Given the description of an element on the screen output the (x, y) to click on. 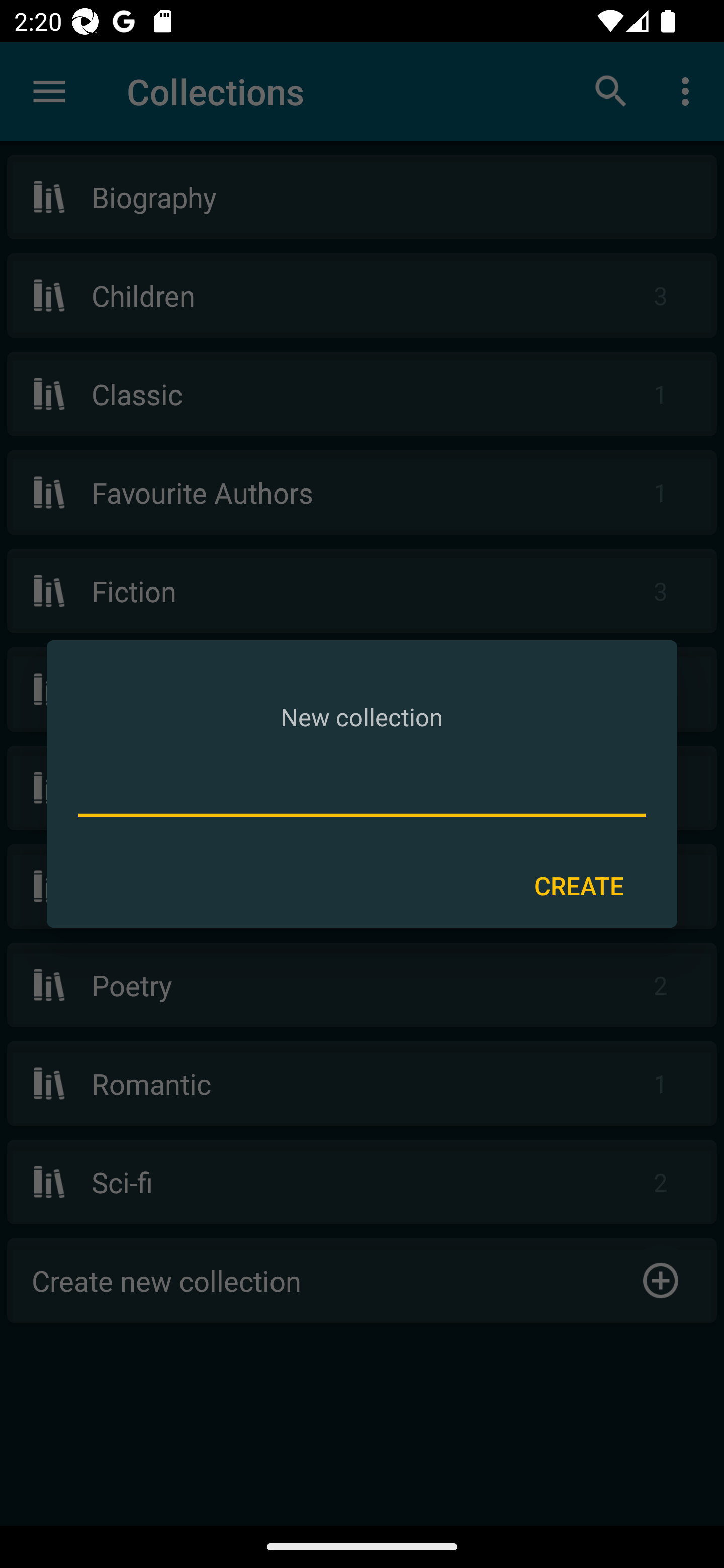
CREATE (578, 885)
